Given the description of an element on the screen output the (x, y) to click on. 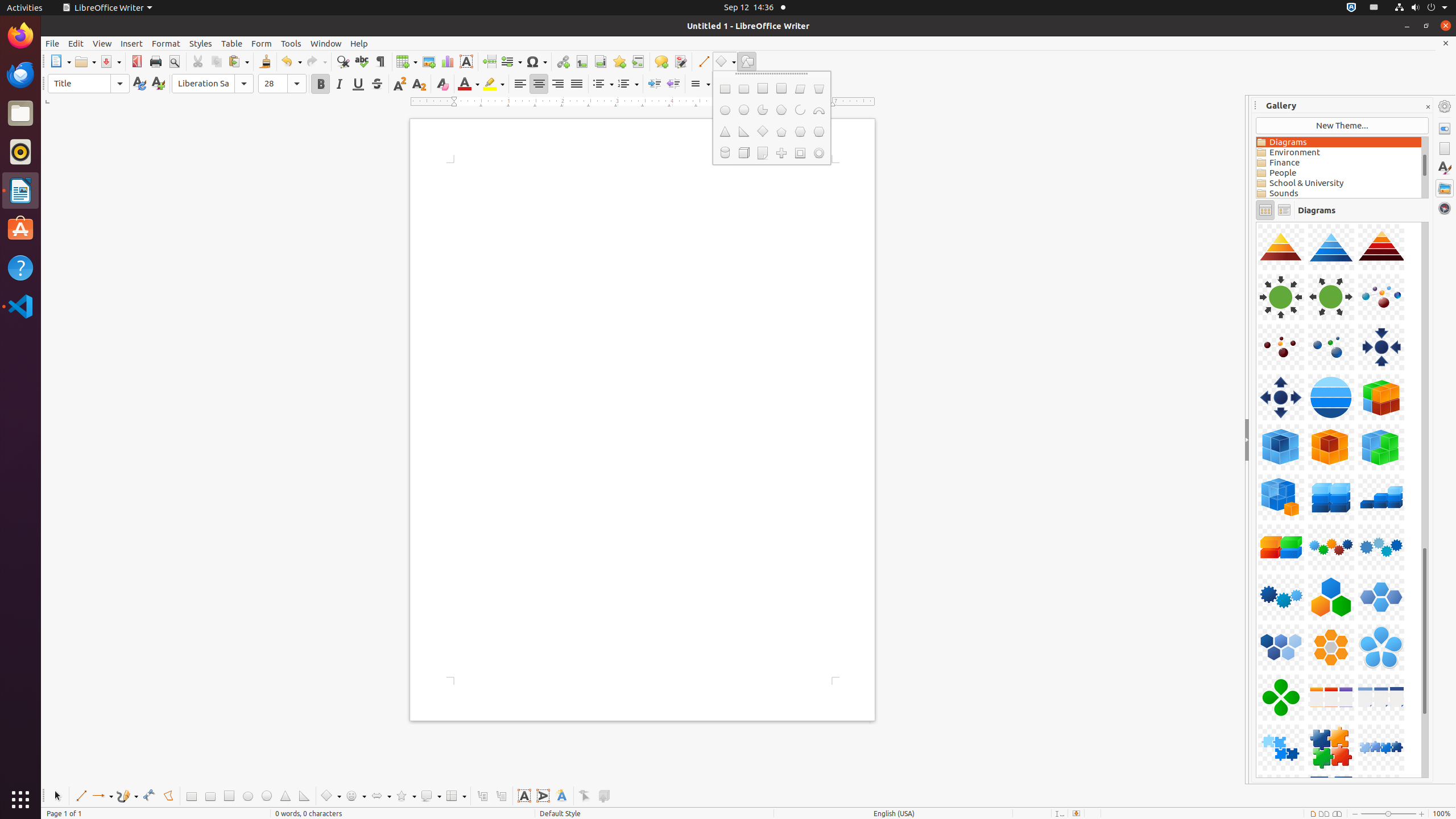
Navigator Element type: radio-button (1444, 208)
Arrow Shapes Element type: push-button (380, 795)
Component-Sphere03-Green Element type: list-item (1256, 222)
Superscript Element type: toggle-button (399, 83)
Vertical Callouts Element type: toggle-button (500, 795)
